Given the description of an element on the screen output the (x, y) to click on. 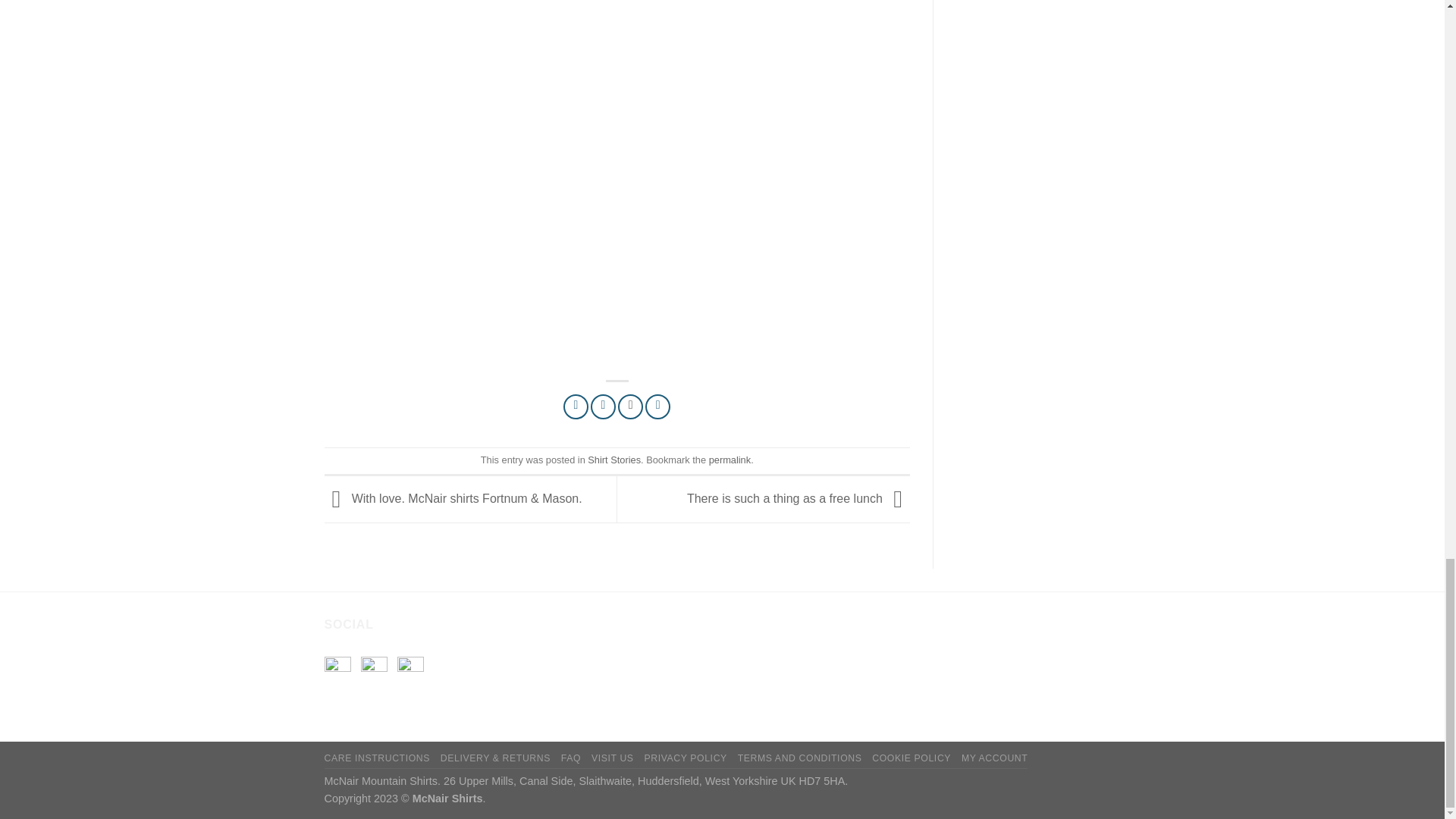
Share on Facebook (575, 406)
Permalink to Igloo adventure. (730, 460)
Share on Twitter (603, 406)
Email to a Friend (630, 406)
Pin on Pinterest (657, 406)
